Given the description of an element on the screen output the (x, y) to click on. 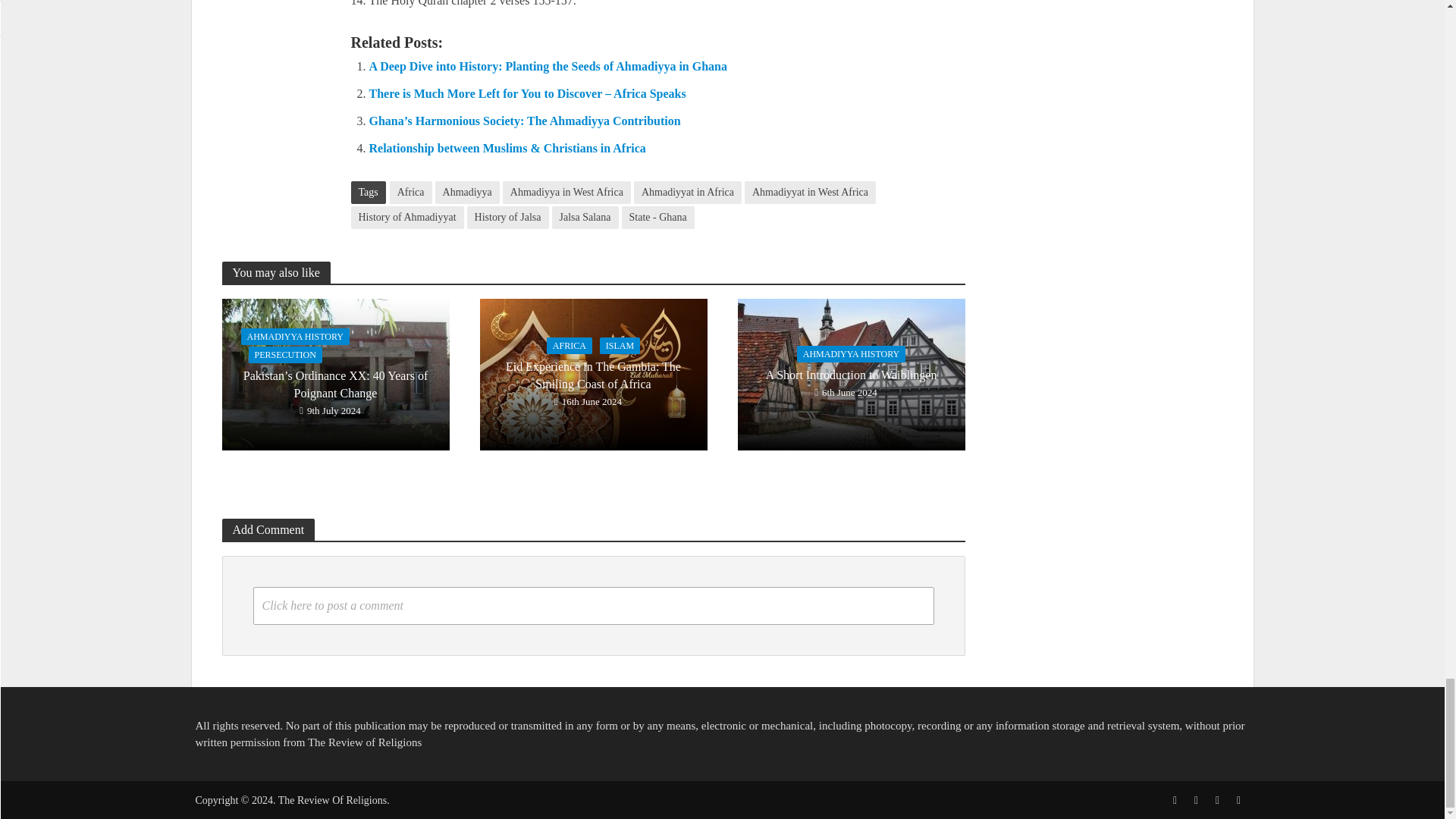
A Short Introduction to Waiblingen (849, 372)
Eid Experience in The Gambia: The Smiling Coast of Africa (592, 372)
